Given the description of an element on the screen output the (x, y) to click on. 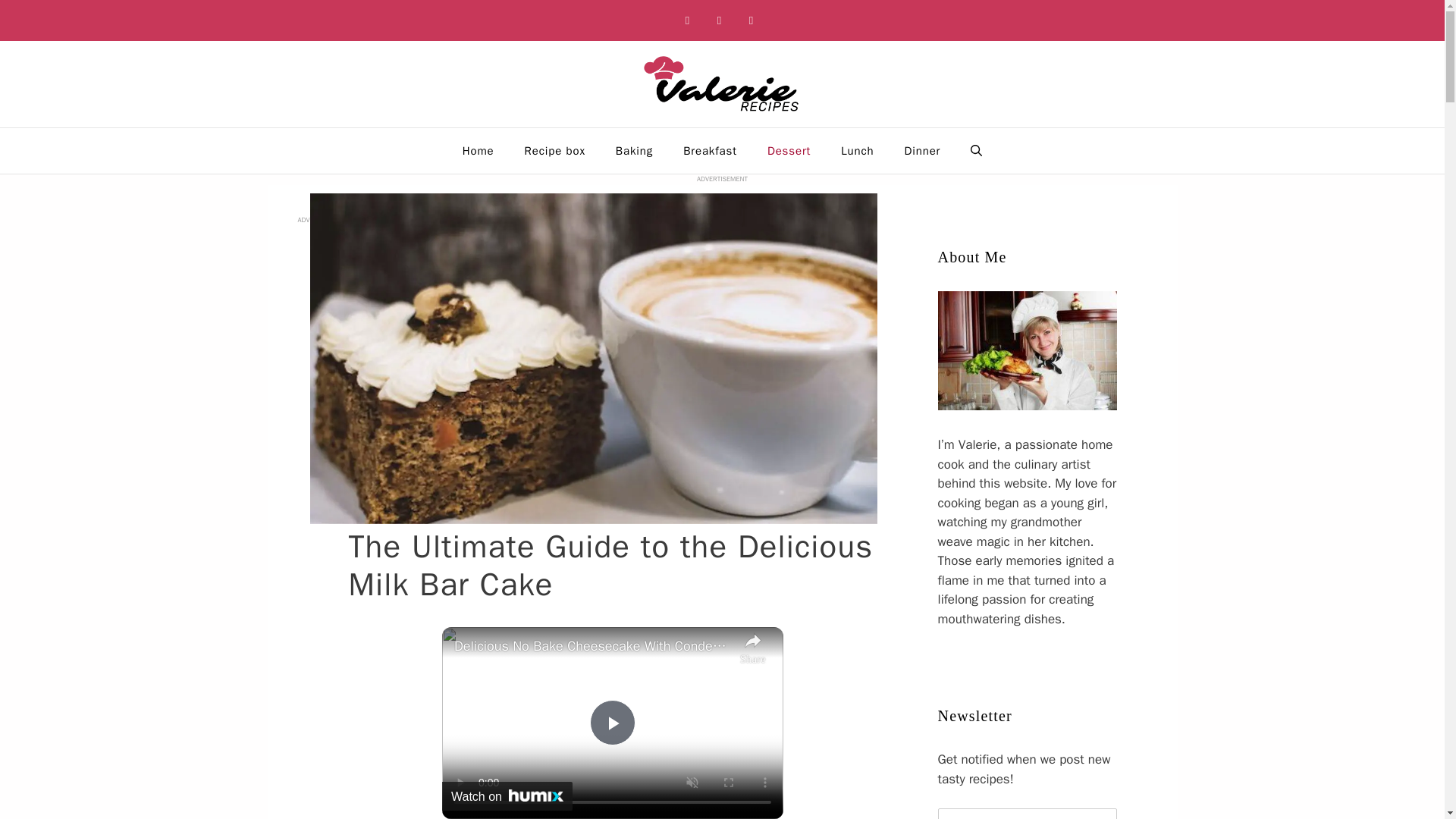
Dinner (922, 150)
YouTube (751, 20)
Dessert (788, 150)
Pinterest (719, 20)
Baking (633, 150)
Home (477, 150)
Recipe box (554, 150)
Breakfast (710, 150)
Lunch (856, 150)
Watch on (507, 796)
Play Video (611, 722)
Facebook (687, 20)
Play Video (611, 722)
